Given the description of an element on the screen output the (x, y) to click on. 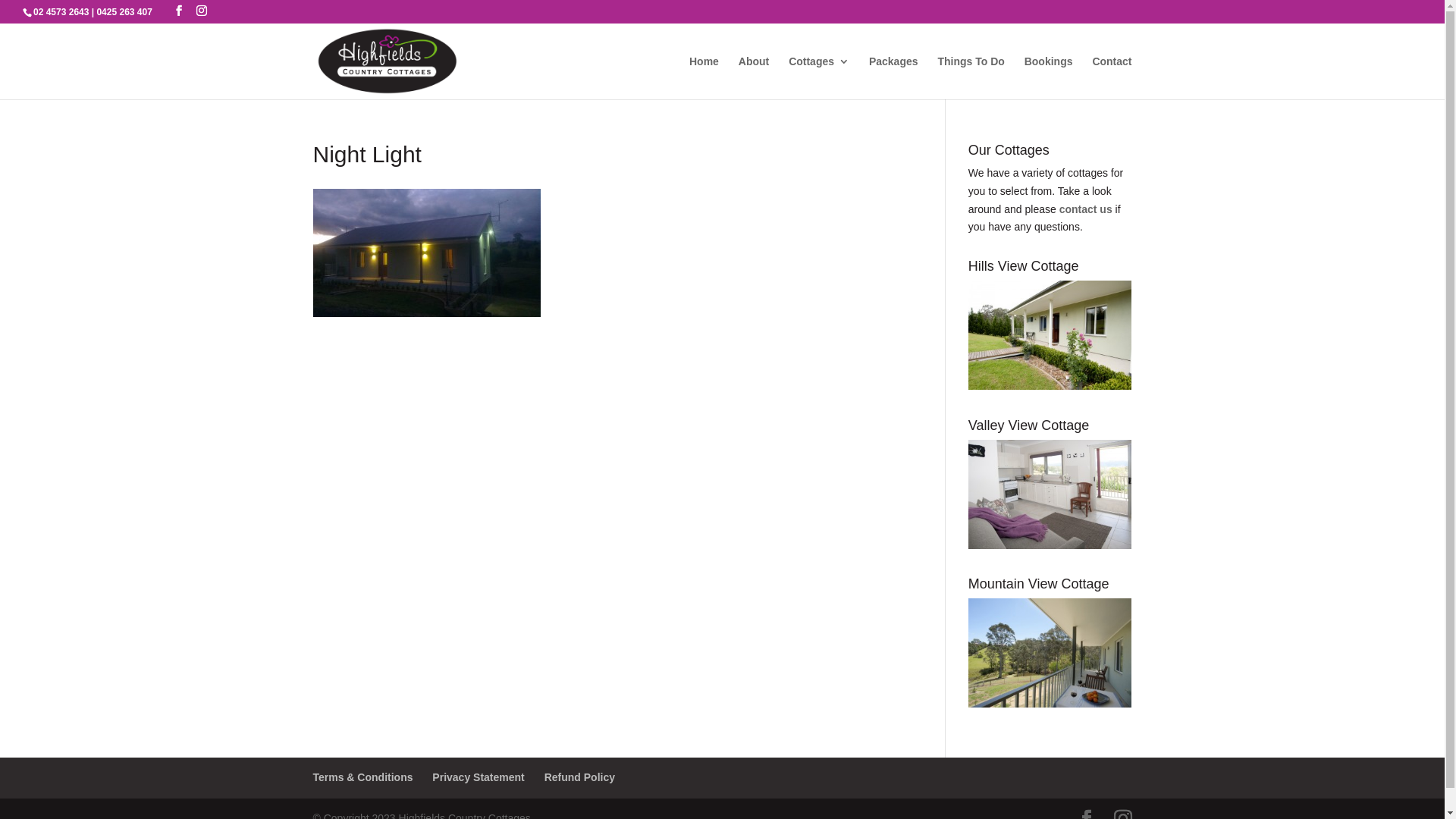
contact us Element type: text (1085, 209)
Packages Element type: text (893, 77)
About Element type: text (753, 77)
Cottages Element type: text (818, 77)
Bookings Element type: text (1048, 77)
Privacy Statement Element type: text (478, 777)
Home Element type: text (703, 77)
Terms & Conditions Element type: text (362, 777)
Refund Policy Element type: text (579, 777)
Contact Element type: text (1111, 77)
Things To Do Element type: text (970, 77)
